Given the description of an element on the screen output the (x, y) to click on. 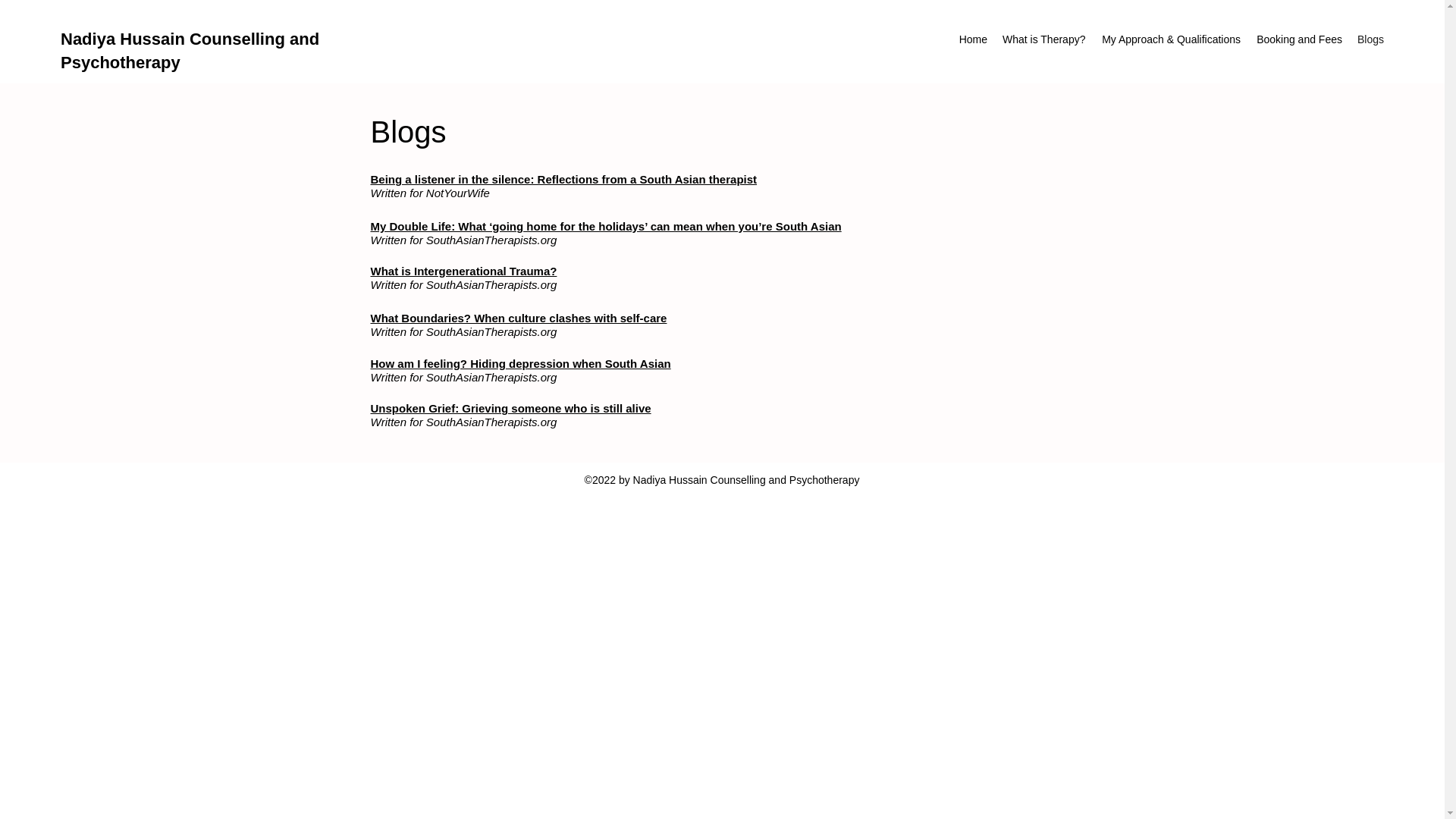
Home (972, 38)
Blogs (1370, 38)
Nadiya Hussain Counselling and Psychotherapy (189, 50)
What Boundaries? When culture clashes with self-care (517, 318)
Booking and Fees (1298, 38)
What is Therapy? (1042, 38)
How am I feeling? Hiding depression when South Asian (519, 363)
Unspoken Grief: Grieving someone who is still alive (509, 408)
What is Intergenerational Trauma? (462, 271)
